Given the description of an element on the screen output the (x, y) to click on. 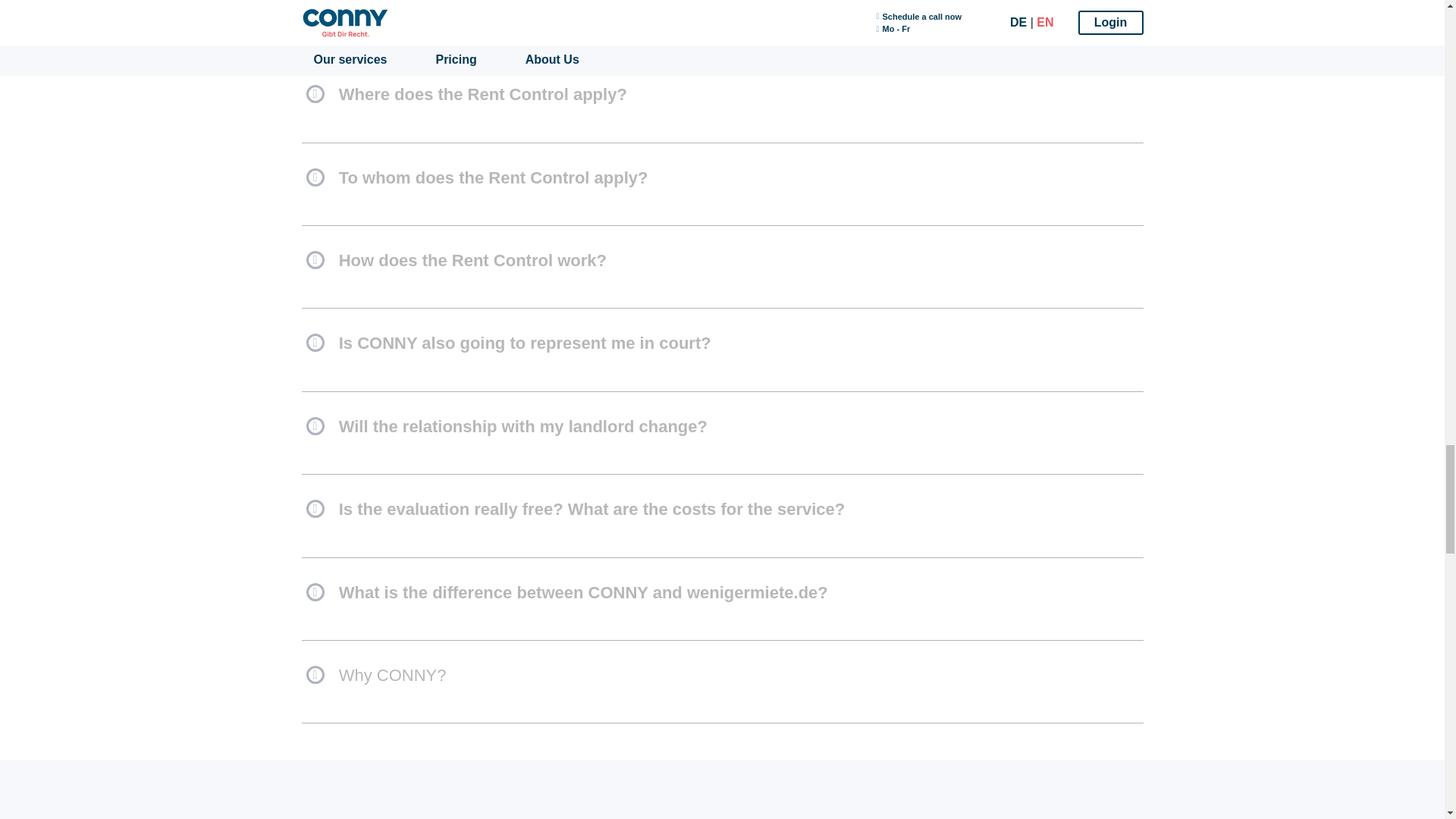
Is CONNY also going to represent me in court? (721, 349)
What is the difference between CONNY and wenigermiete.de? (721, 598)
How does the Rent Control work? (721, 266)
Will the relationship with my landlord change? (721, 432)
To whom does the Rent Control apply? (721, 183)
Where does the Rent Control apply? (721, 100)
Why CONNY? (721, 681)
